Given the description of an element on the screen output the (x, y) to click on. 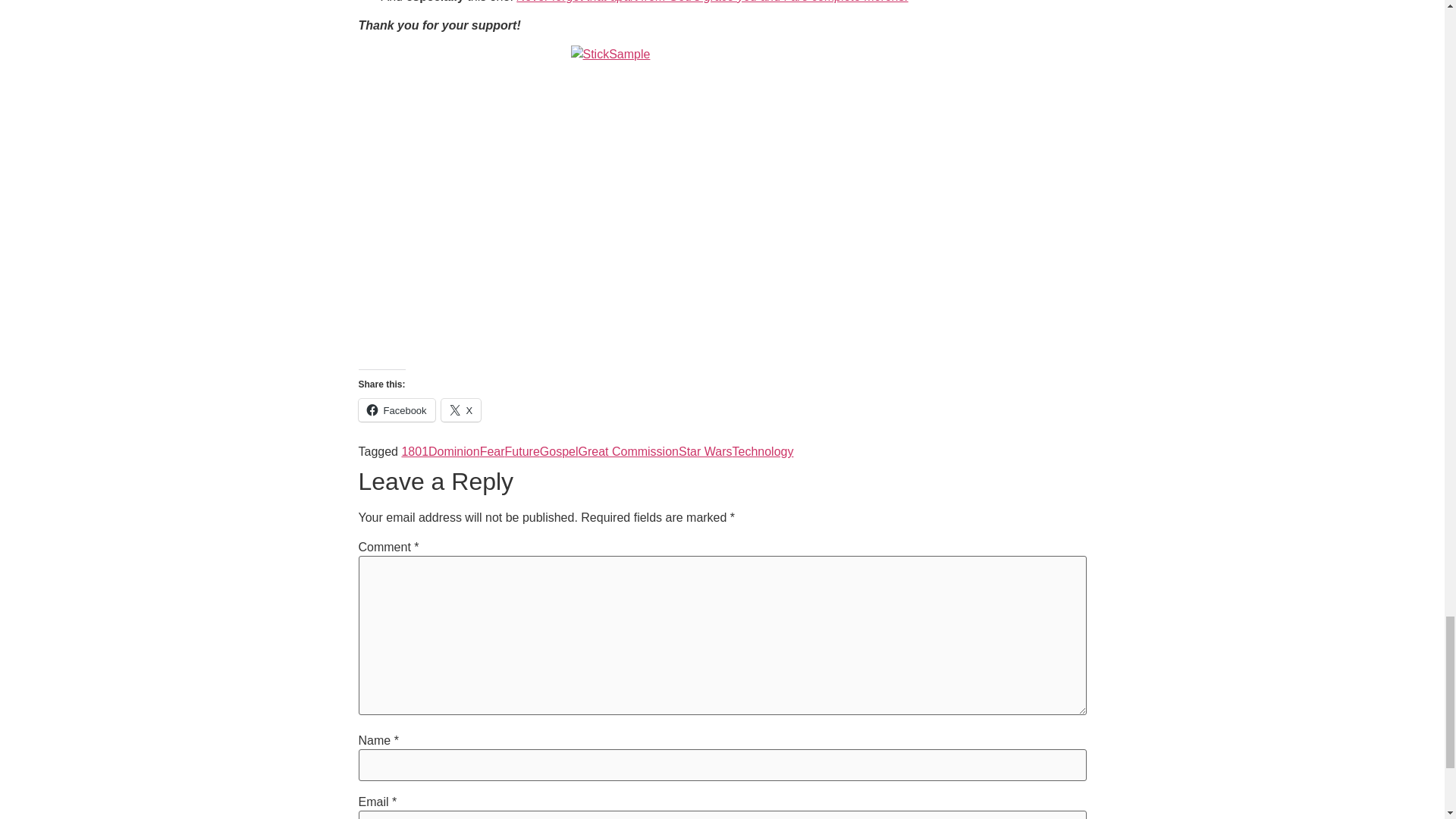
Fear (492, 451)
Click to share on X (461, 409)
Dominion (454, 451)
1801 (414, 451)
Facebook (395, 409)
X (461, 409)
Click to share on Facebook (395, 409)
